Given the description of an element on the screen output the (x, y) to click on. 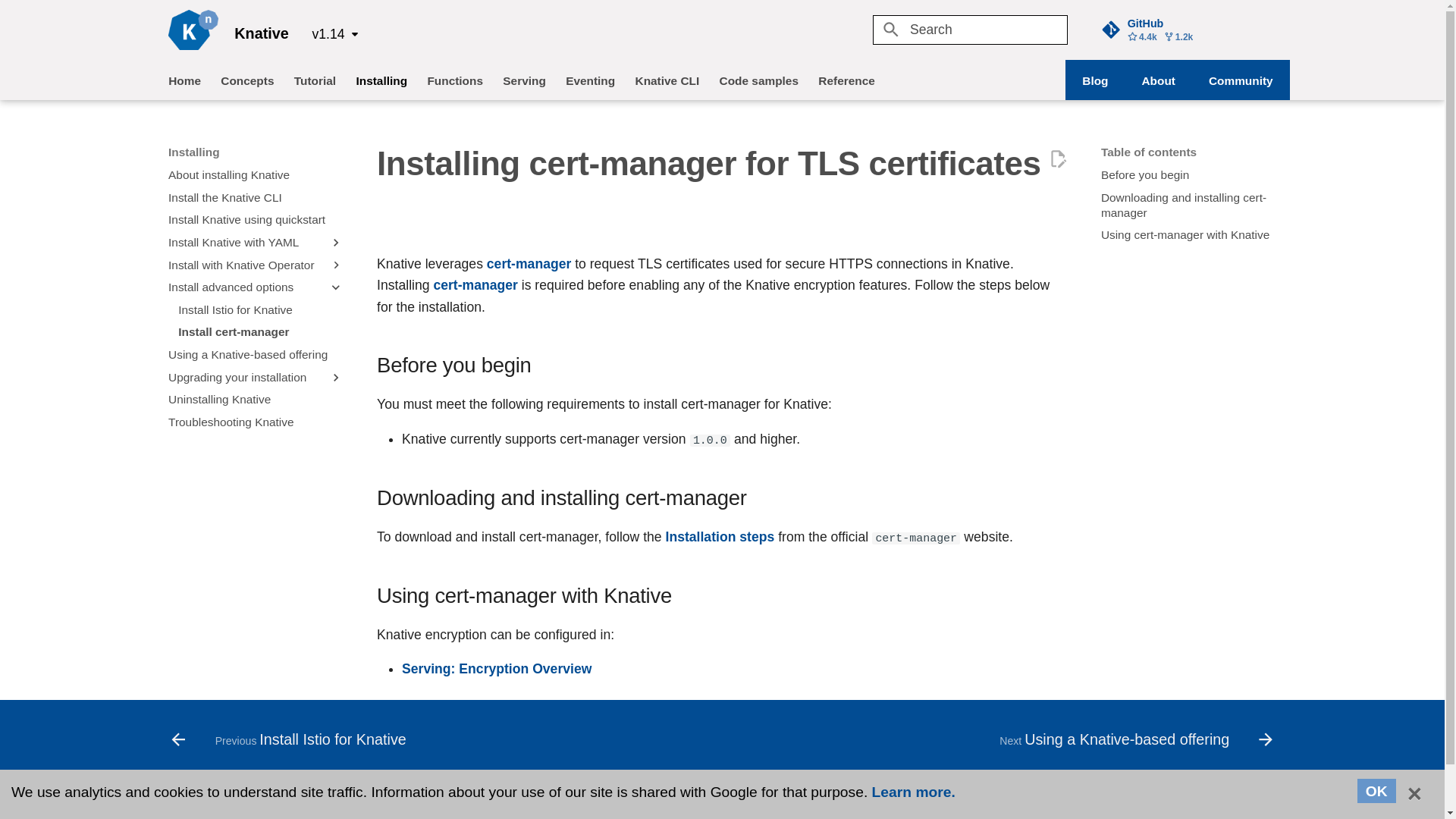
Serving (523, 80)
v1.14 (335, 34)
Knative CLI (666, 80)
Home (184, 80)
Concepts (247, 80)
About (1157, 80)
Go to repository (1187, 29)
Eventing (590, 80)
Reference (846, 80)
Installing (381, 80)
Knative (193, 29)
Functions (454, 80)
Community (1240, 80)
Code samples (758, 80)
Blog (1094, 80)
